Given the description of an element on the screen output the (x, y) to click on. 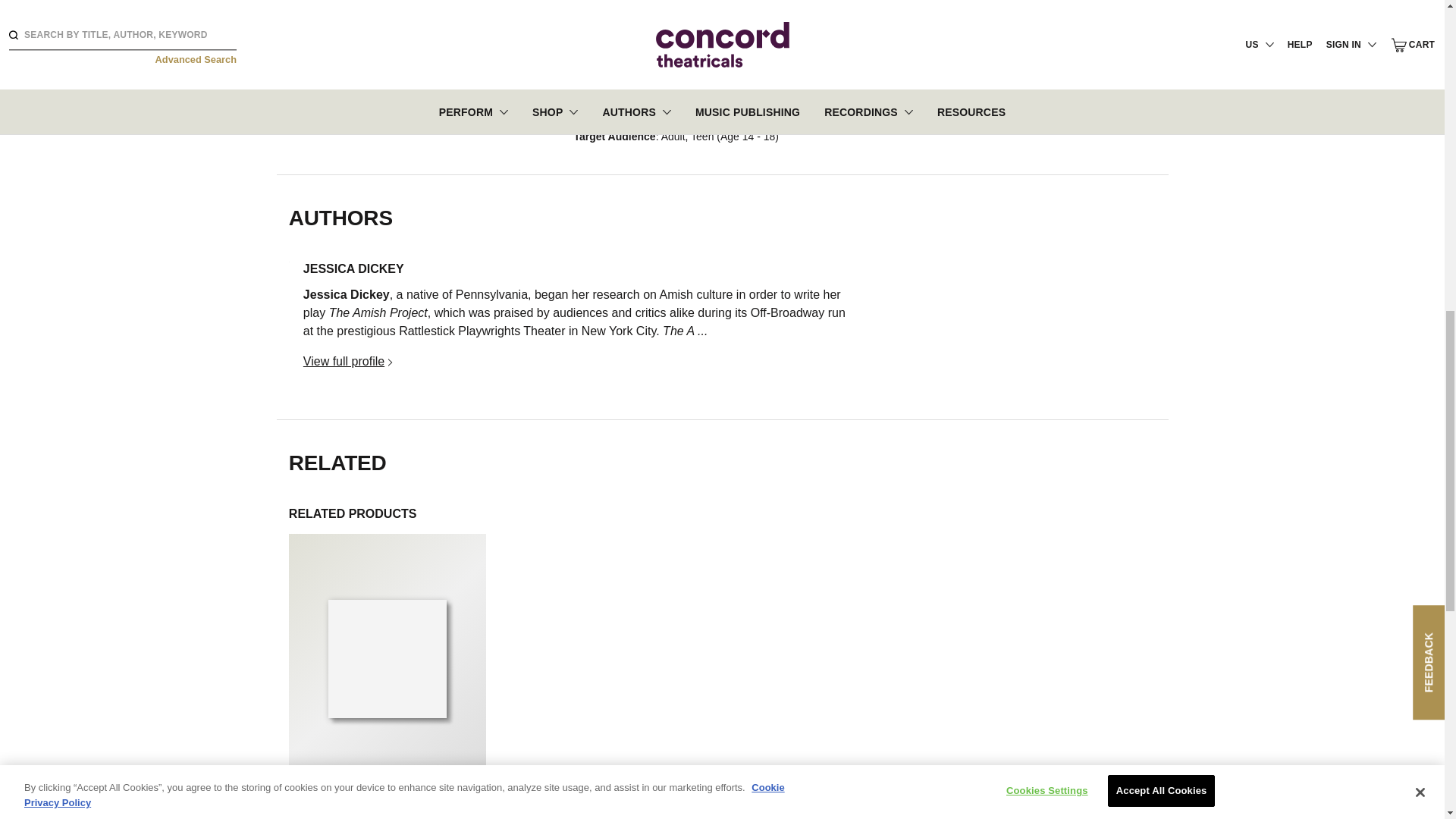
Caution Mild Adult (296, 65)
